Given the description of an element on the screen output the (x, y) to click on. 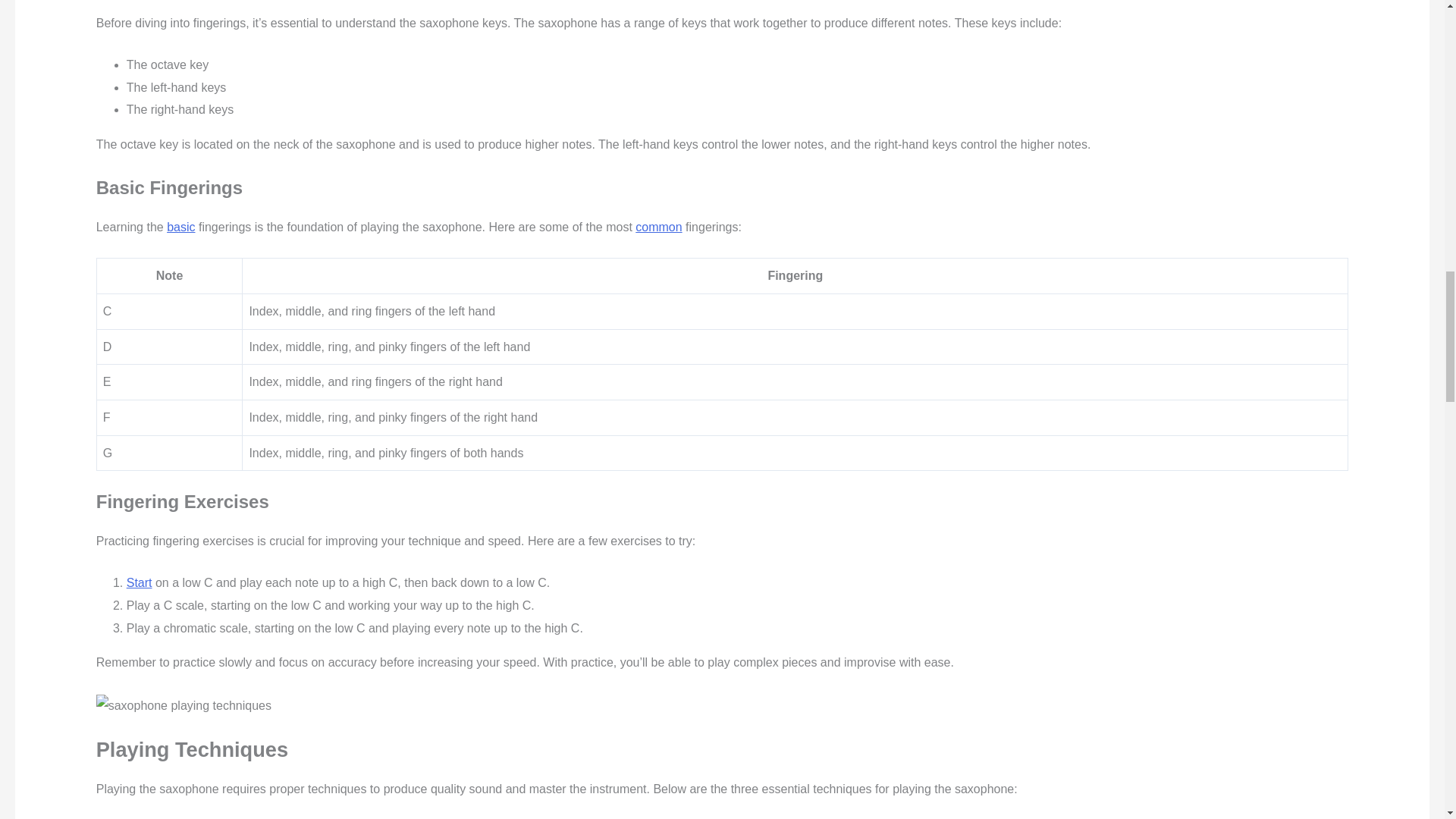
Start (139, 582)
common (657, 226)
basic (181, 226)
